Given the description of an element on the screen output the (x, y) to click on. 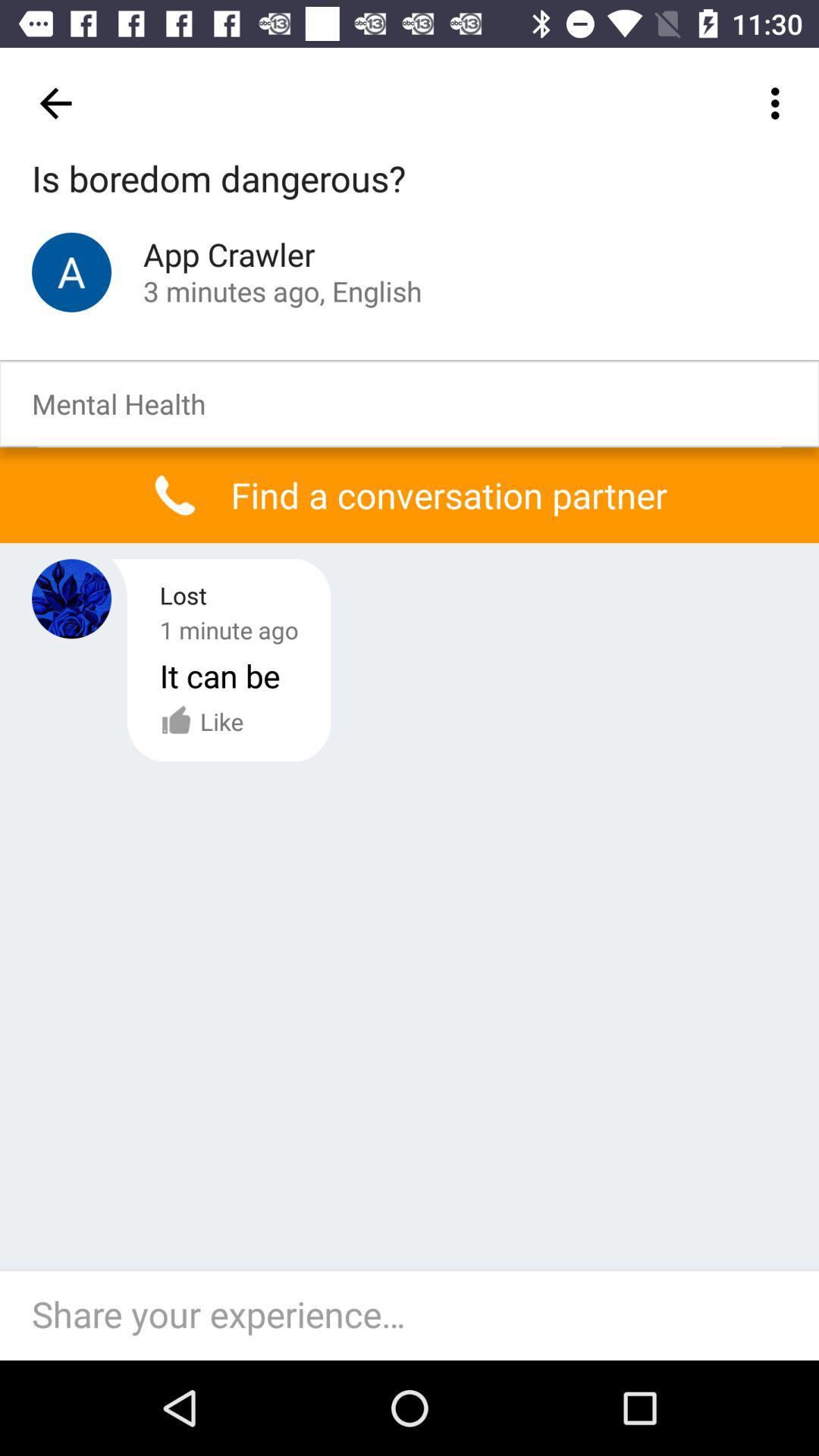
turn on is boredom dangerous? icon (218, 179)
